Given the description of an element on the screen output the (x, y) to click on. 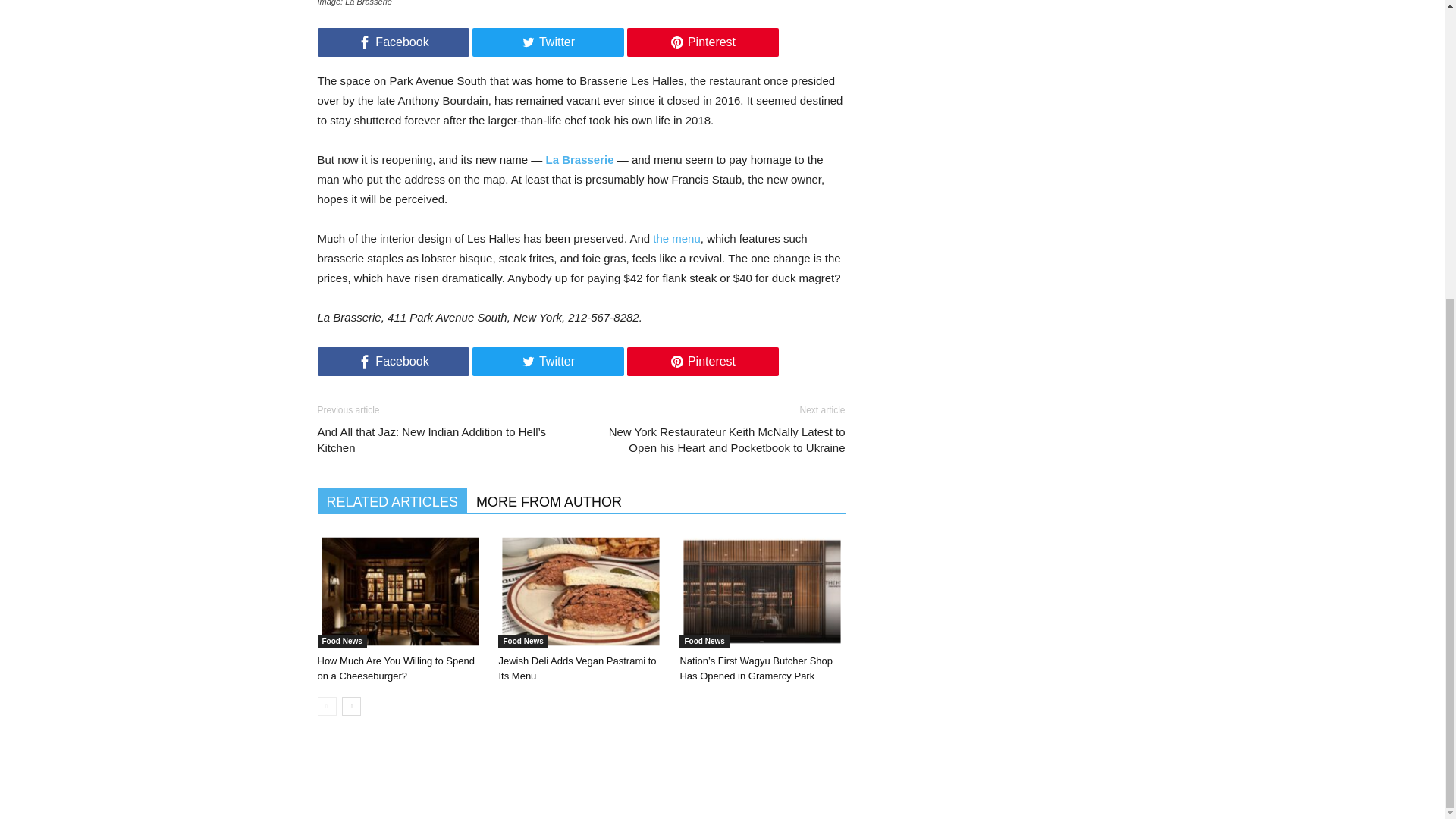
Jewish Deli Adds Vegan Pastrami to Its Menu (585, 594)
Facebook (392, 41)
La Brasserie (580, 159)
the menu (676, 237)
MORE FROM AUTHOR (548, 500)
RELATED ARTICLES (391, 500)
How Much Are You Willing to Spend on a Cheeseburger? (399, 591)
Pinterest (701, 41)
Pinterest (701, 361)
Facebook (392, 361)
How Much Are You Willing to Spend on a Cheeseburger? (395, 668)
Twitter (547, 41)
How Much Are You Willing to Spend on a Cheeseburger? (403, 594)
Jewish Deli Adds Vegan Pastrami to Its Menu (580, 591)
